Given the description of an element on the screen output the (x, y) to click on. 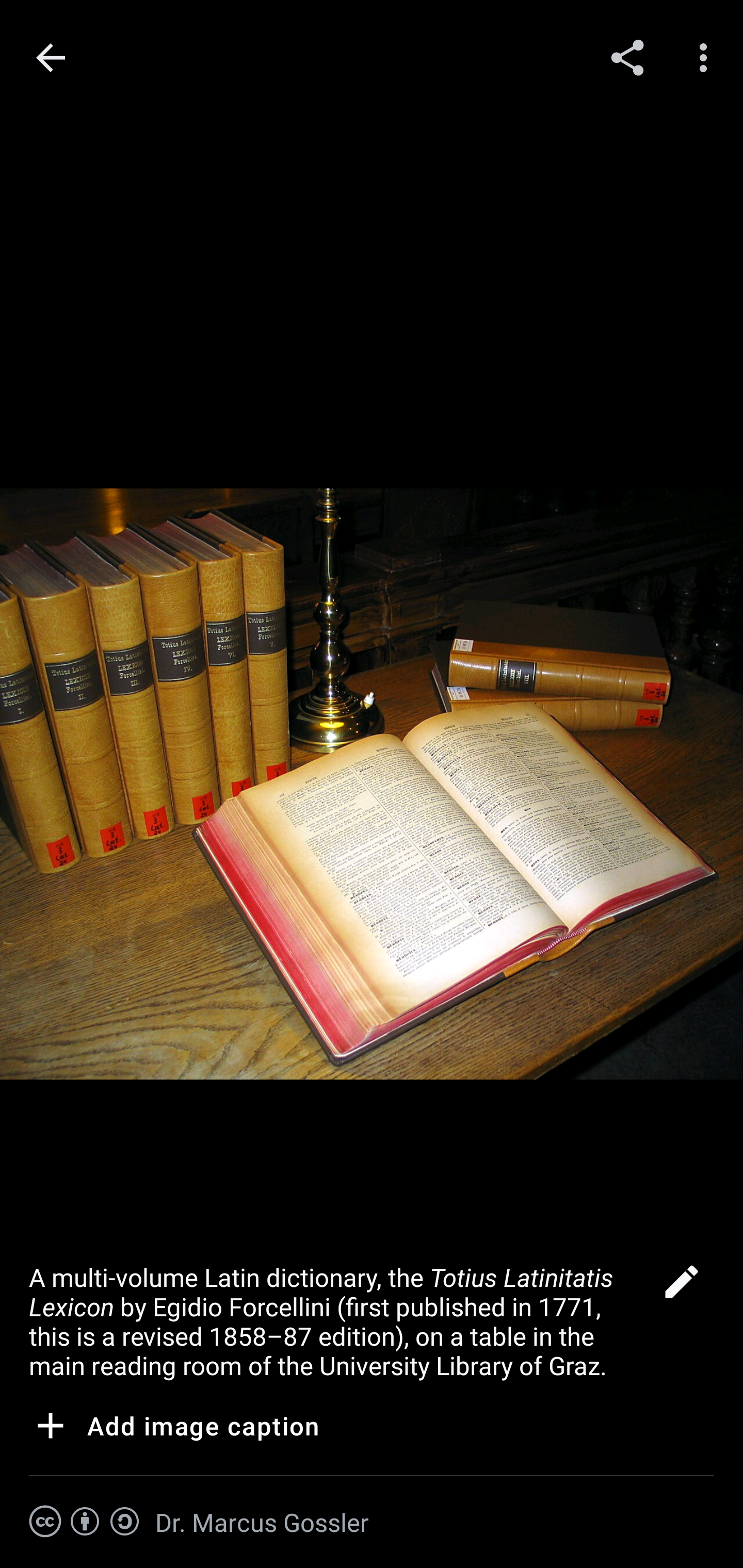
Navigate up (50, 57)
Share (626, 57)
More options (706, 57)
Edit image caption (681, 1286)
Add image caption (174, 1428)
CC BY-SA 3.0 (84, 1521)
